Given the description of an element on the screen output the (x, y) to click on. 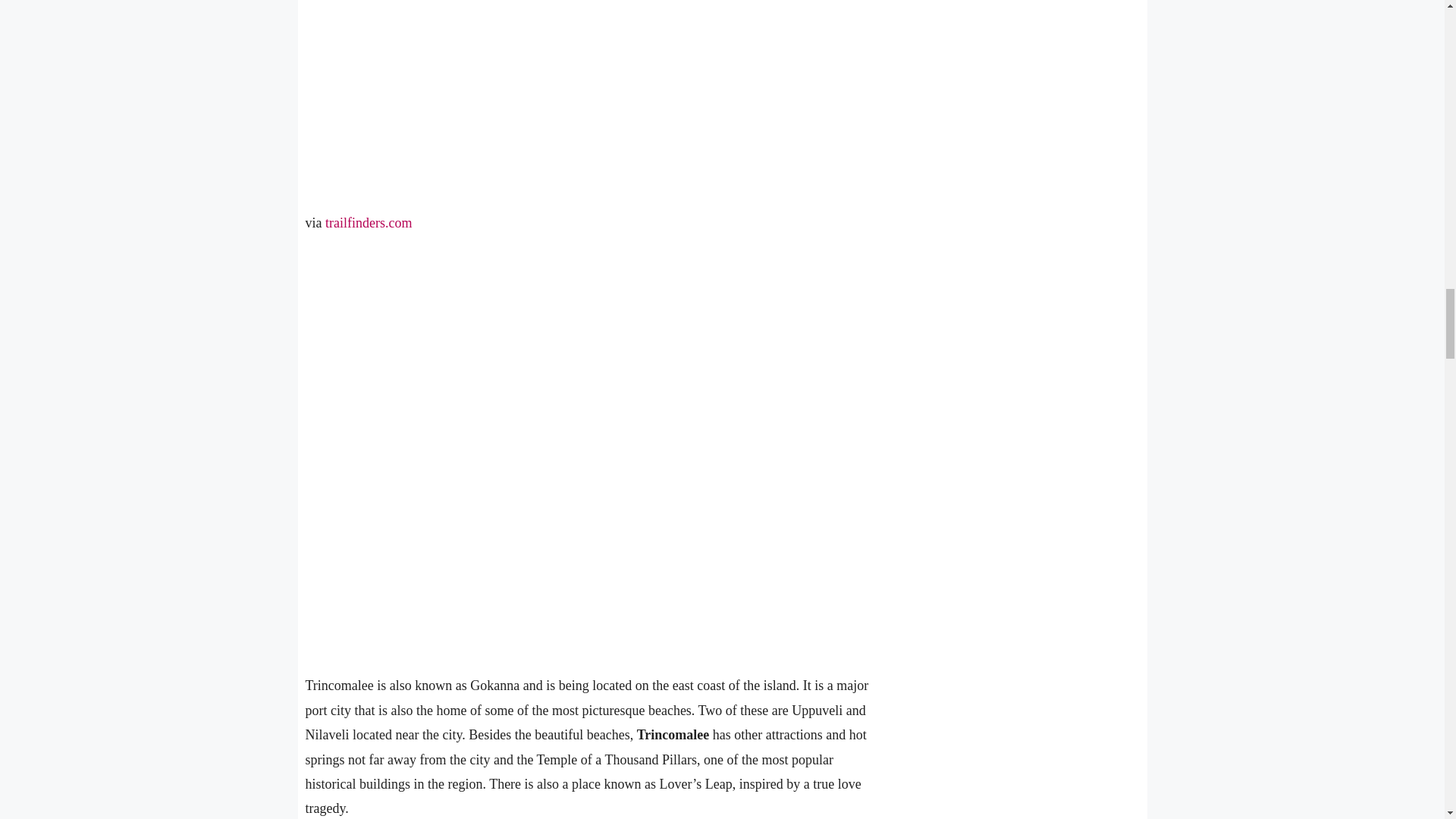
Trincomalee-Sri-Lanka (583, 94)
trailfinders.com (368, 222)
